Given the description of an element on the screen output the (x, y) to click on. 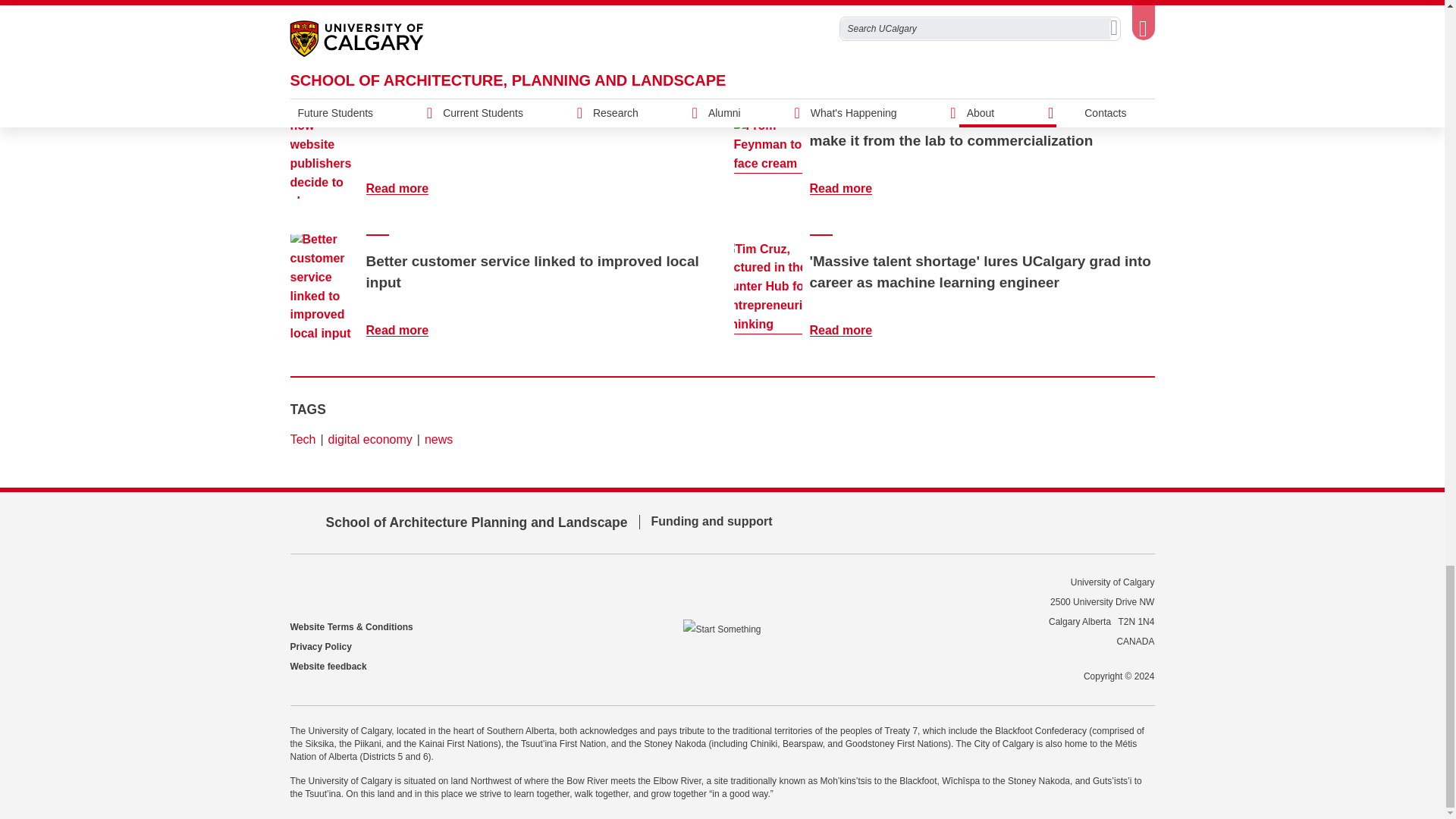
What's stopping the sale of your private data? (405, 187)
Better customer service linked to improved local input (405, 329)
